Given the description of an element on the screen output the (x, y) to click on. 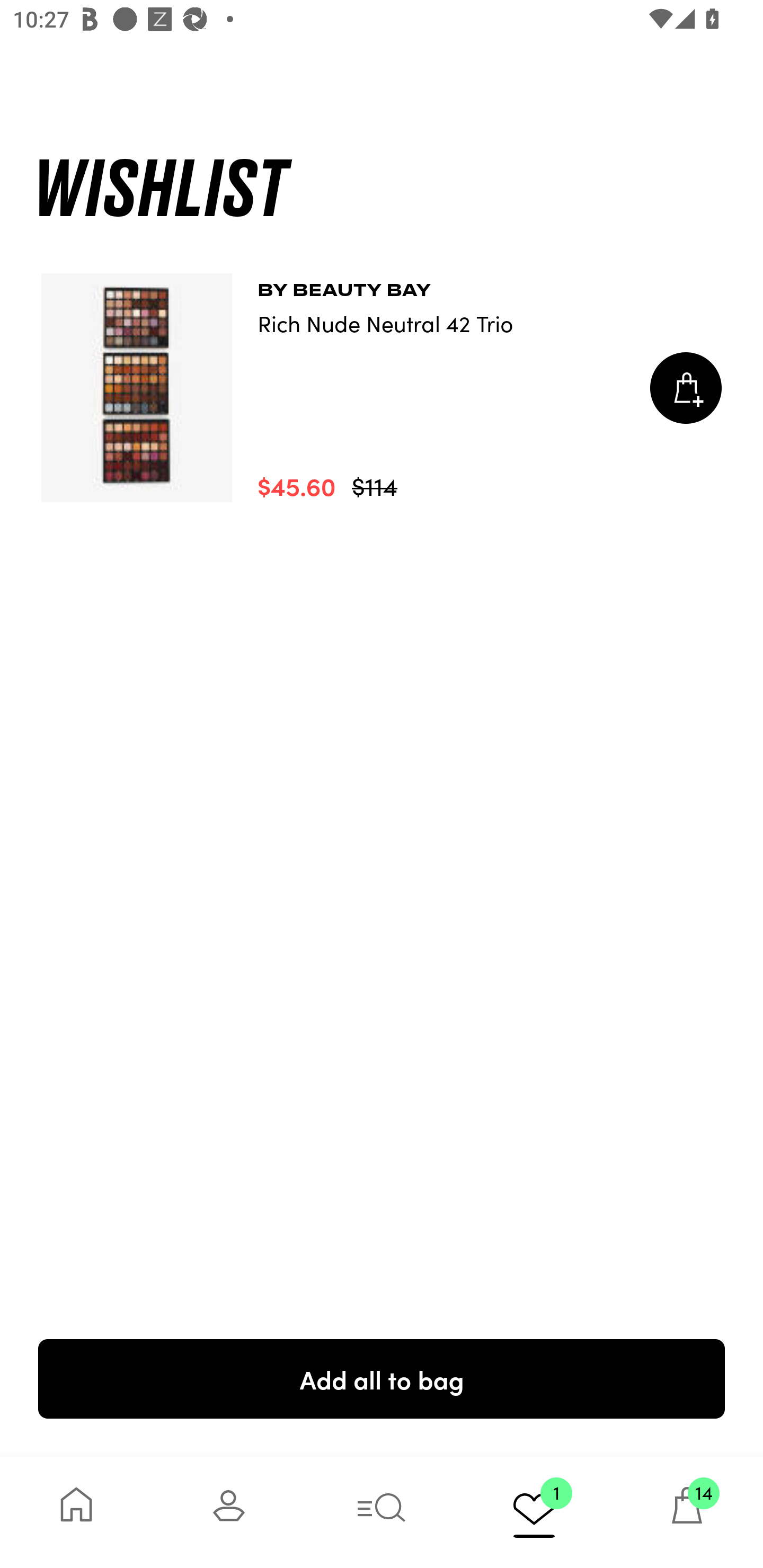
Add all to bag (381, 1379)
1 (533, 1512)
14 (686, 1512)
